Given the description of an element on the screen output the (x, y) to click on. 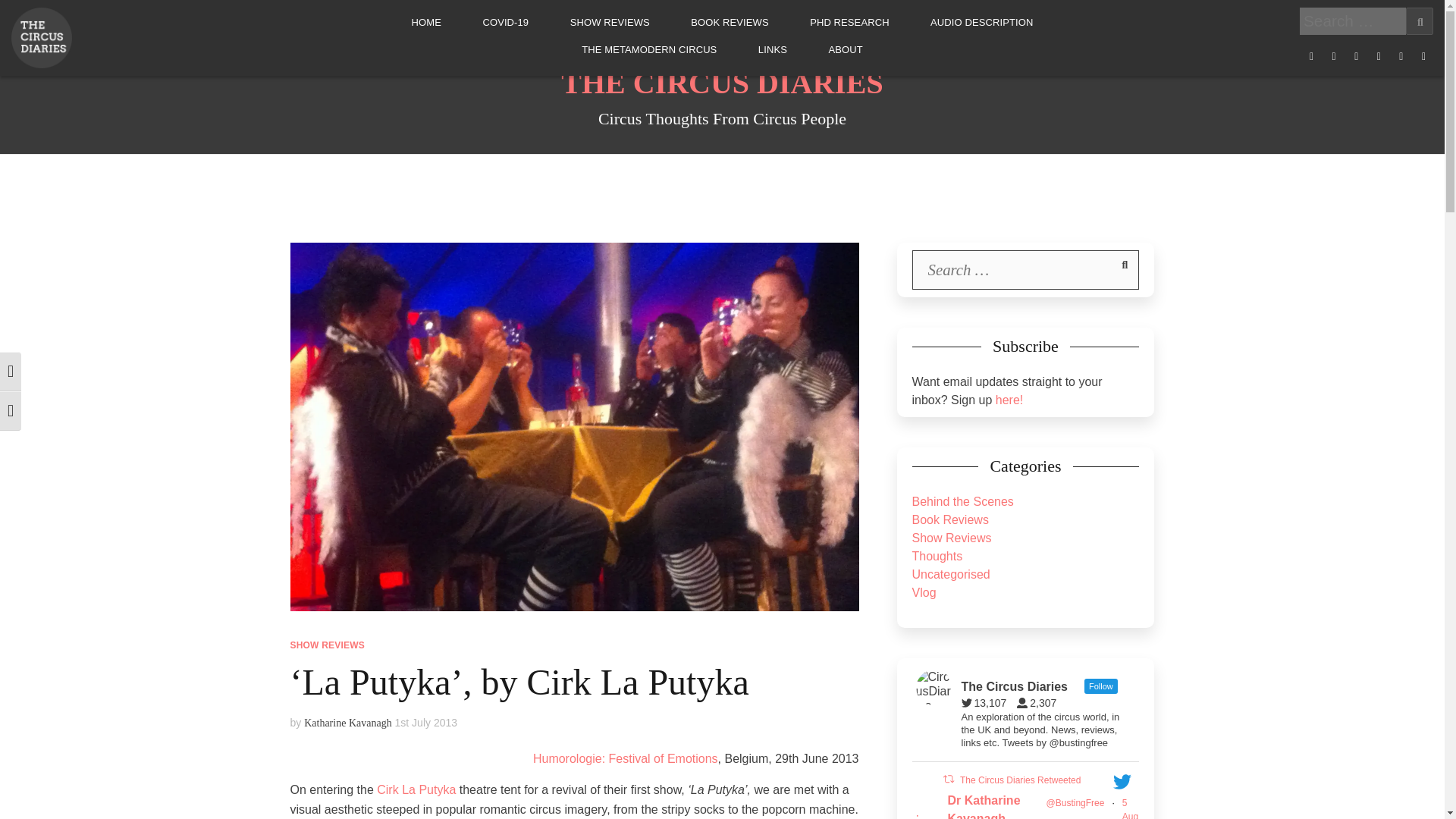
13,107 Tweets (987, 702)
COVID-19 (505, 22)
SHOW REVIEWS (609, 22)
THE CIRCUS DIARIES (721, 82)
ABOUT (844, 49)
SHOW REVIEWS (326, 644)
LINKS (772, 49)
PHD RESEARCH (849, 22)
THE METAMODERN CIRCUS (648, 49)
HOME (426, 22)
